Given the description of an element on the screen output the (x, y) to click on. 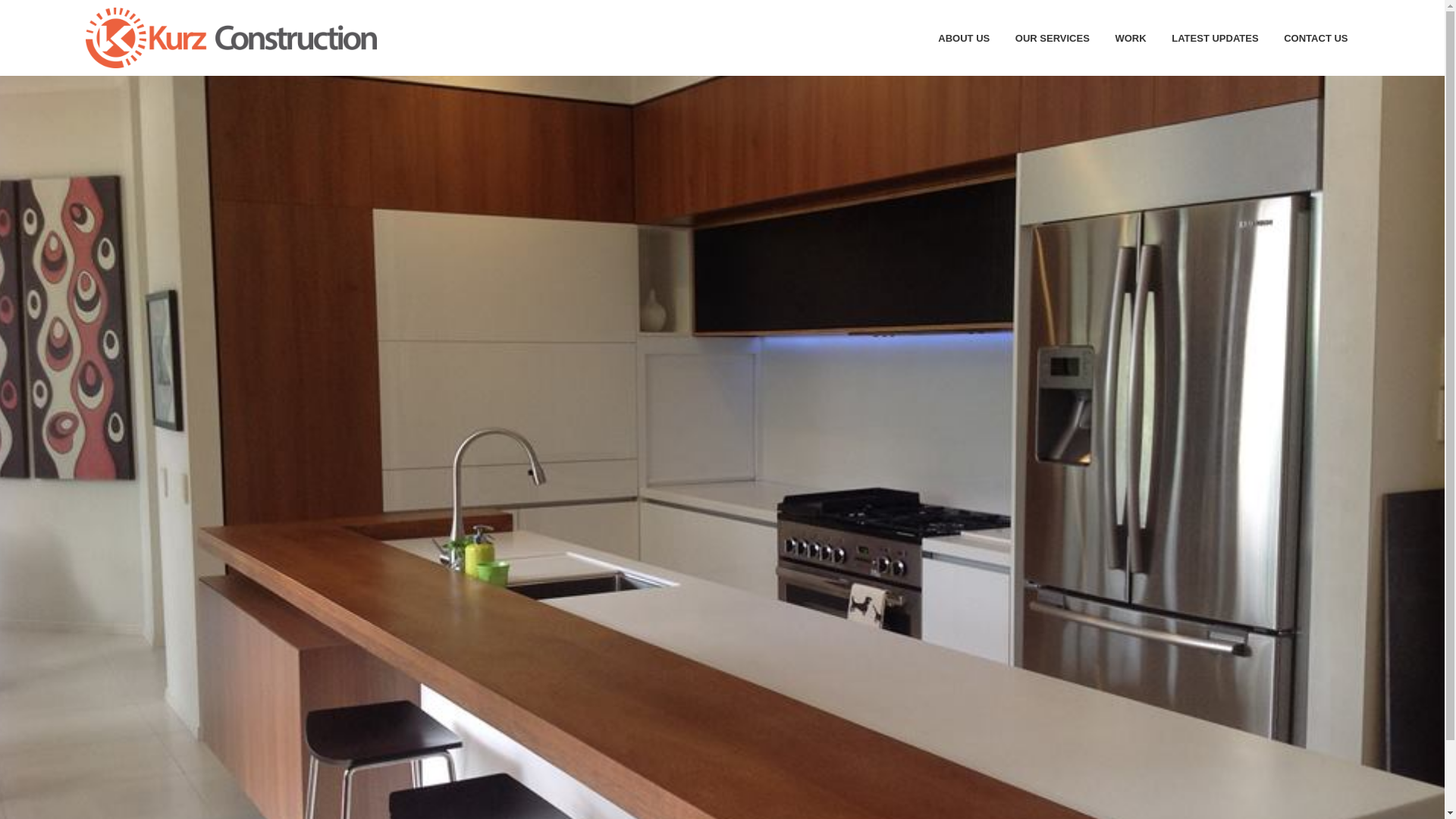
OUR SERVICES Element type: text (1052, 37)
ABOUT US Element type: text (963, 37)
Search Element type: text (1417, 659)
WORK Element type: text (1130, 37)
LATEST UPDATES Element type: text (1214, 37)
Construction Brisbane Element type: hover (230, 37)
CONTACT US Element type: text (1315, 37)
